Given the description of an element on the screen output the (x, y) to click on. 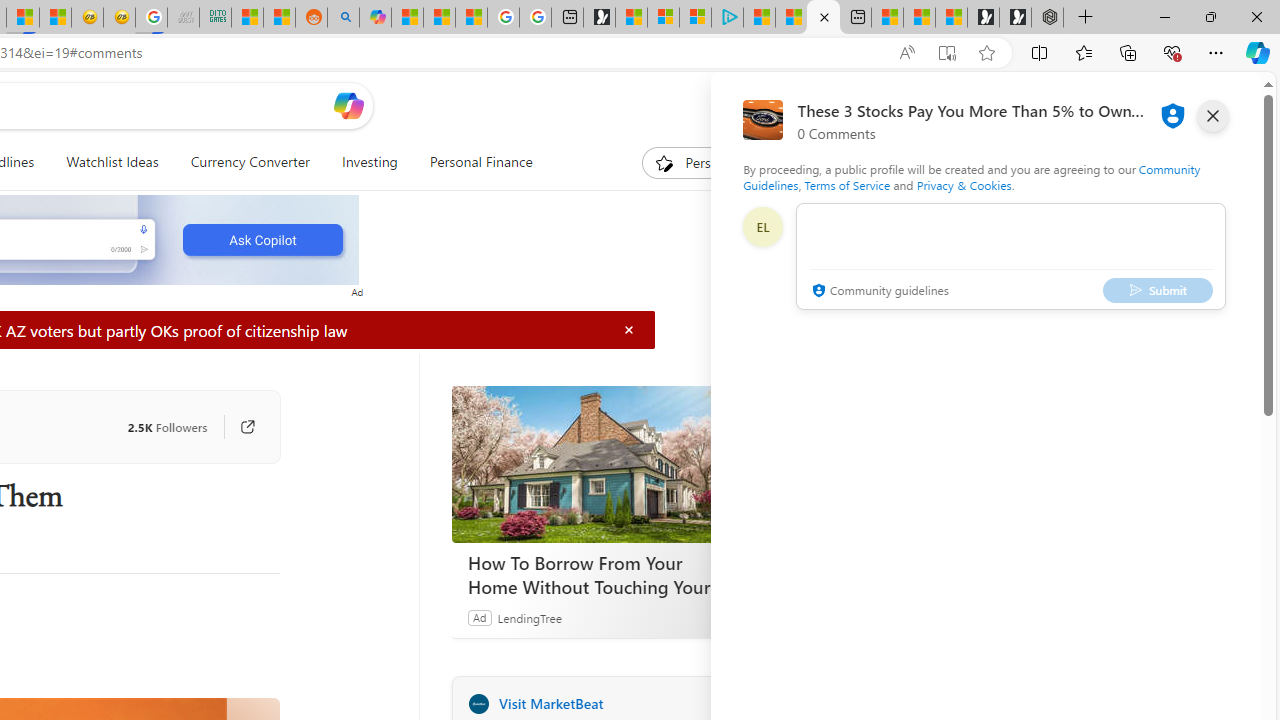
Terms of Service (846, 184)
Community Guidelines (971, 176)
Privacy & Cookies (964, 184)
Go to publisher's site (237, 426)
LendingTree (528, 617)
